Given the description of an element on the screen output the (x, y) to click on. 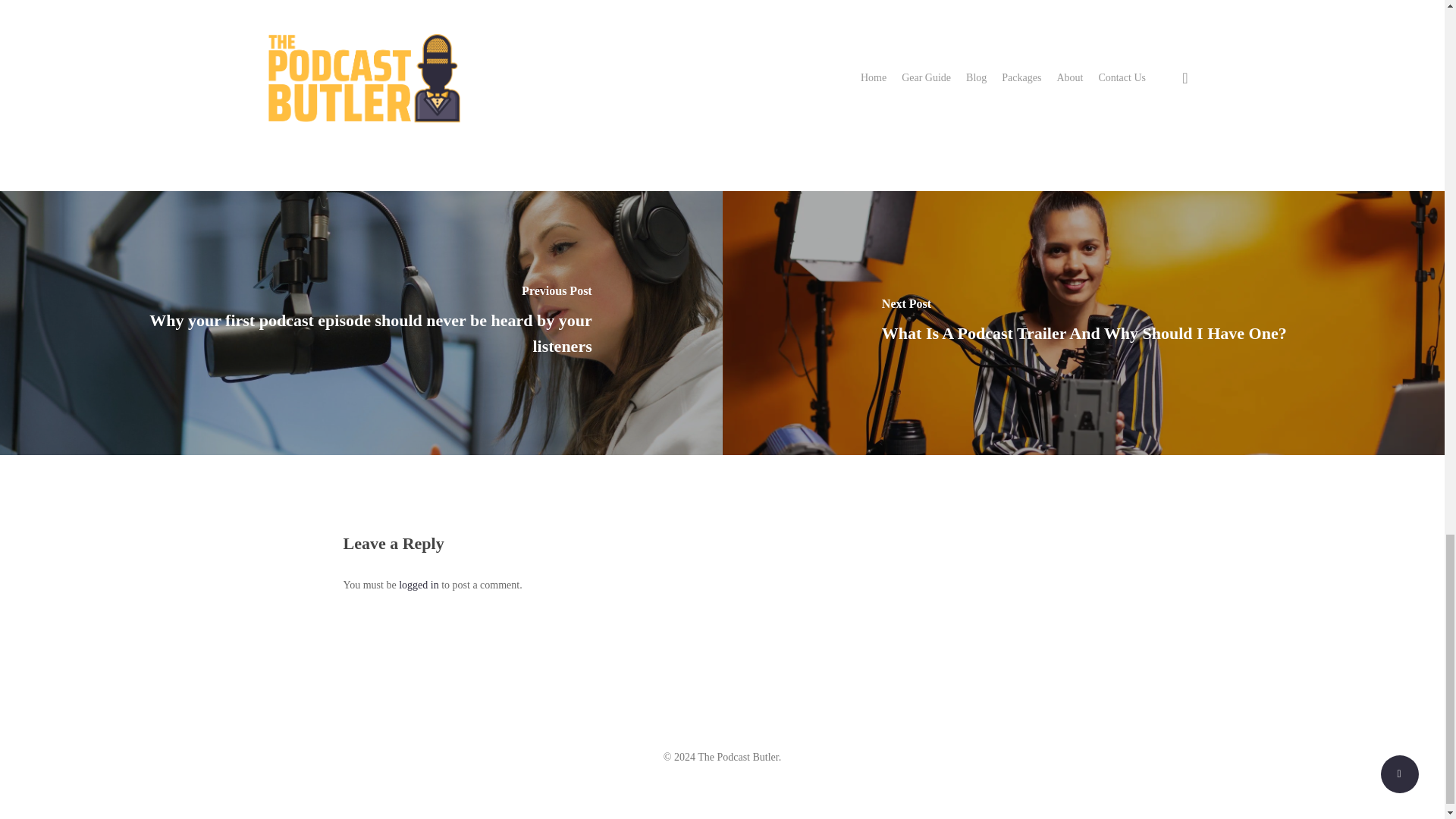
logged in (418, 584)
The Podcast Butler (494, 81)
